Given the description of an element on the screen output the (x, y) to click on. 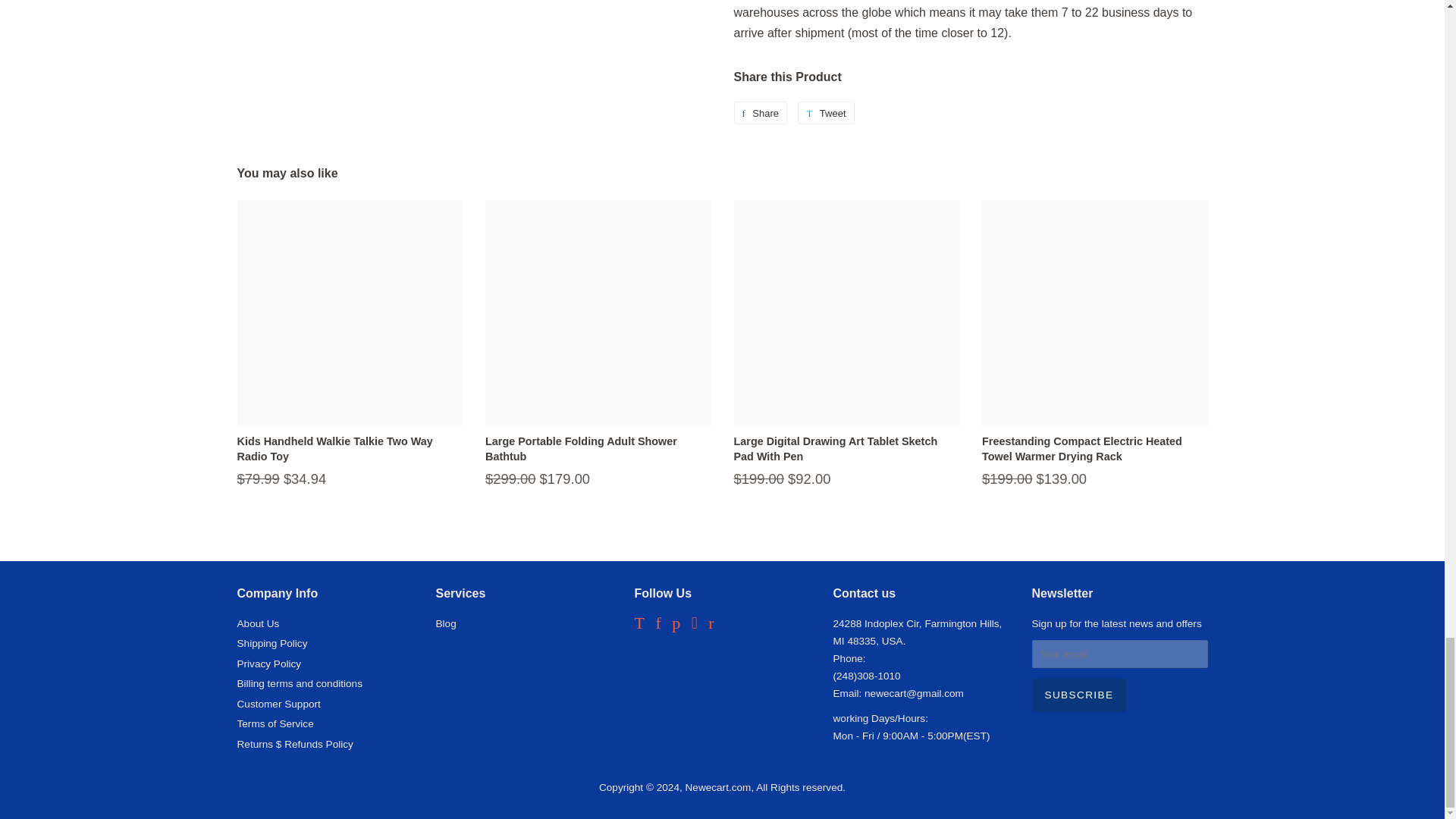
Tweet on Twitter (825, 112)
Subscribe (1077, 694)
Share on Facebook (760, 112)
